Given the description of an element on the screen output the (x, y) to click on. 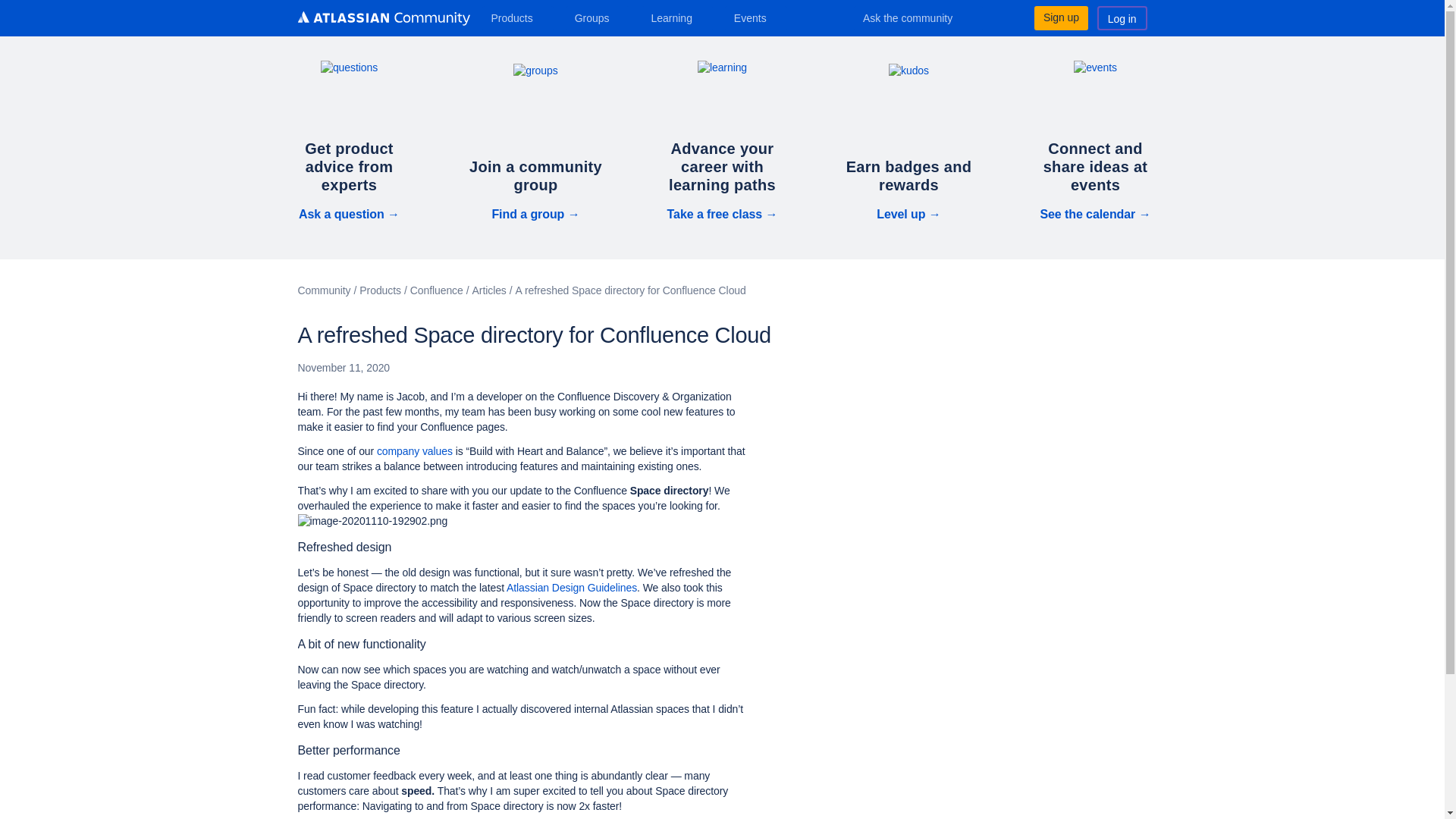
Atlassian Community logo (382, 18)
Atlassian Community logo (382, 19)
Ask the community  (917, 17)
Sign up (1060, 17)
Products (517, 17)
image-20201110-192902.png (371, 521)
Events (756, 17)
Groups (598, 17)
Log in (1122, 17)
Learning (676, 17)
